Given the description of an element on the screen output the (x, y) to click on. 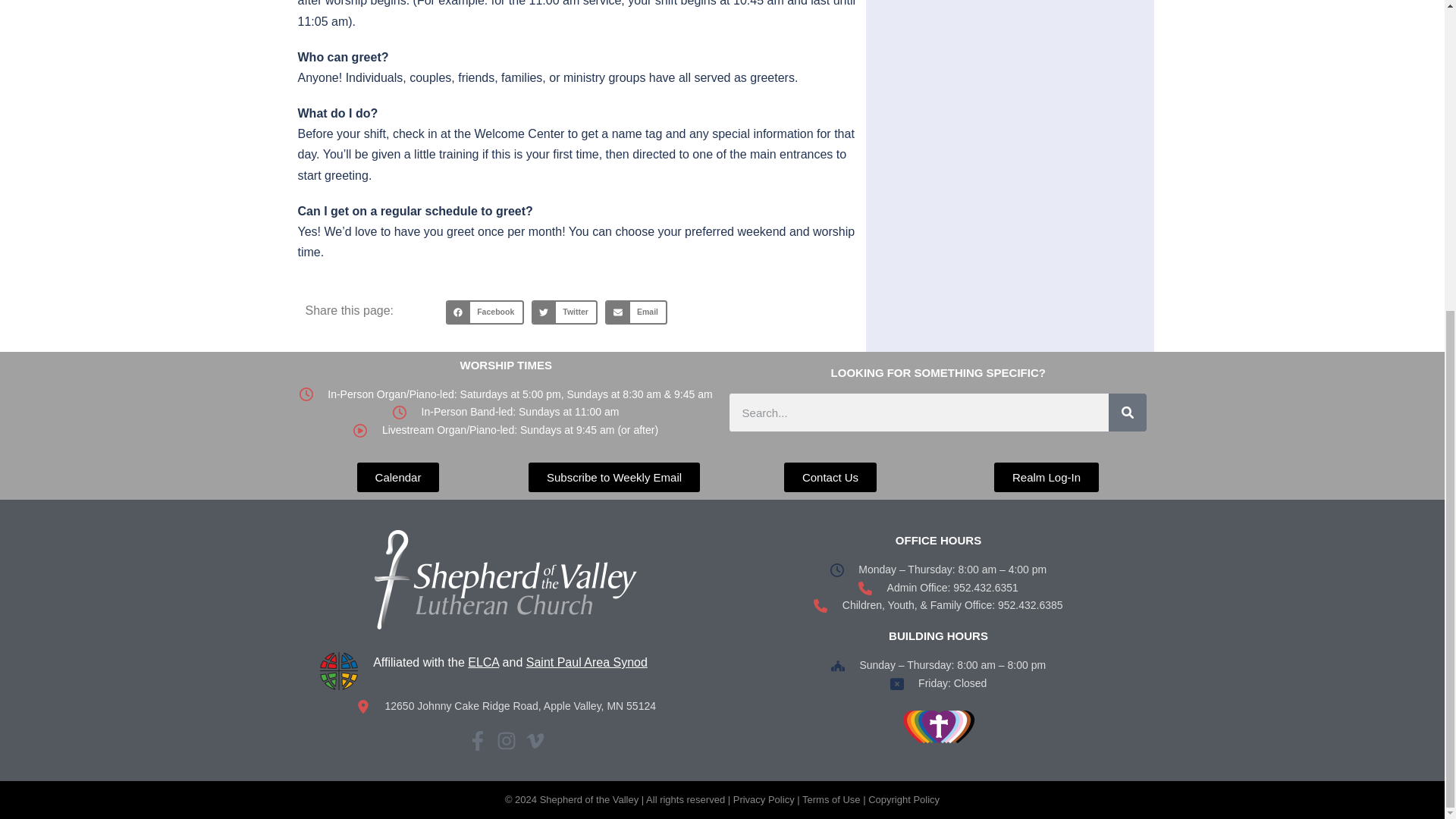
In-Person Band-led: Sundays at 11:00 am (505, 412)
Saint Paul Area Synod (586, 662)
Realm Log-In (1046, 477)
Subscribe to Weekly Email (614, 477)
12650 Johnny Cake Ridge Road, Apple Valley, MN 55124 (505, 706)
ELCA (483, 662)
Admin Office: 952.432.6351 (938, 588)
Calendar (397, 477)
RIC 2023 purple CAPS (938, 727)
Contact Us (830, 477)
